Given the description of an element on the screen output the (x, y) to click on. 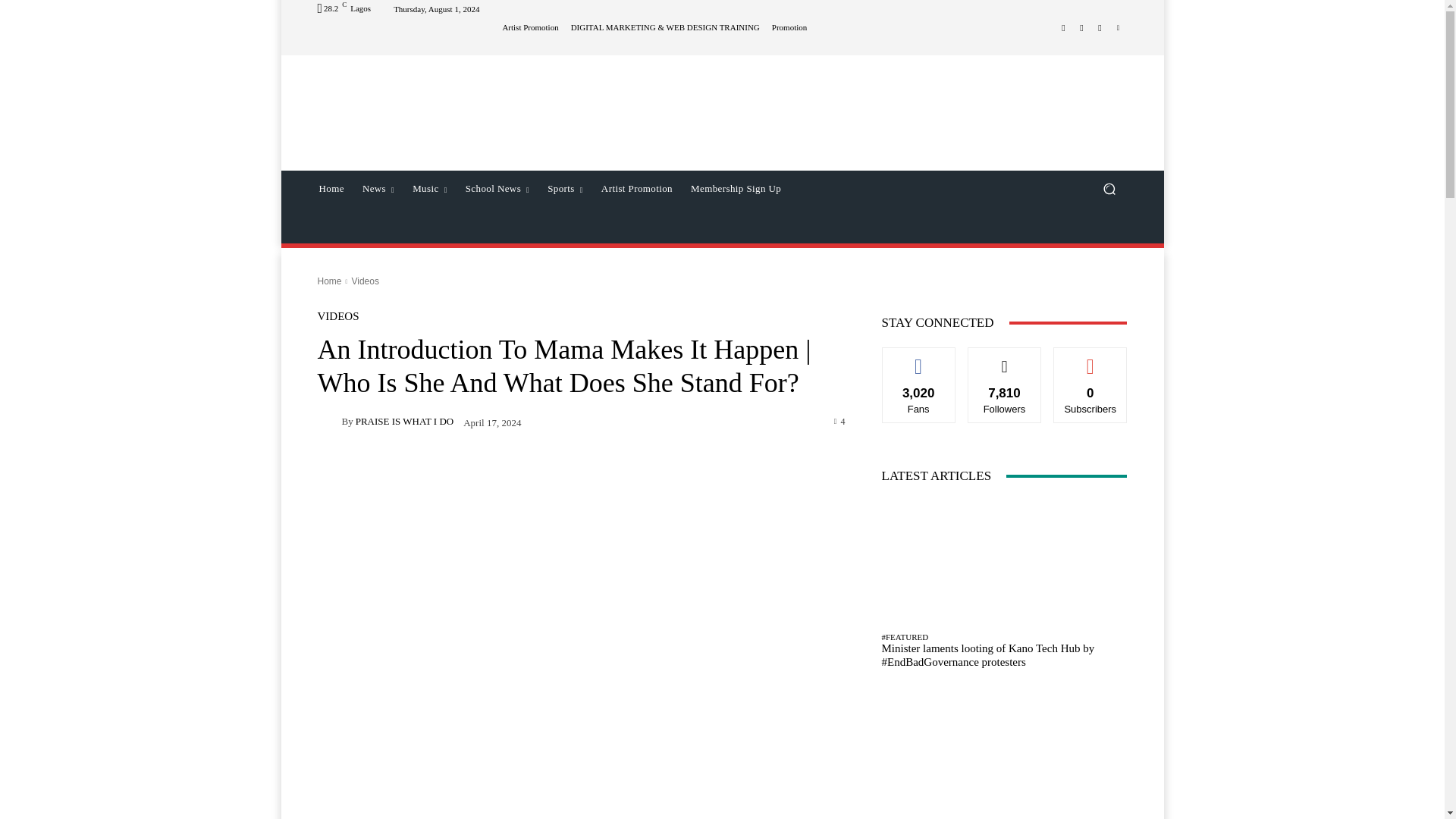
Home (330, 188)
Vimeo (1117, 27)
Artist Promotion (529, 27)
Twitter (1099, 27)
JAMZ.NG (425, 94)
News (378, 188)
Music (430, 188)
Promotion (788, 27)
Instagram (1080, 27)
Facebook (1062, 27)
